Given the description of an element on the screen output the (x, y) to click on. 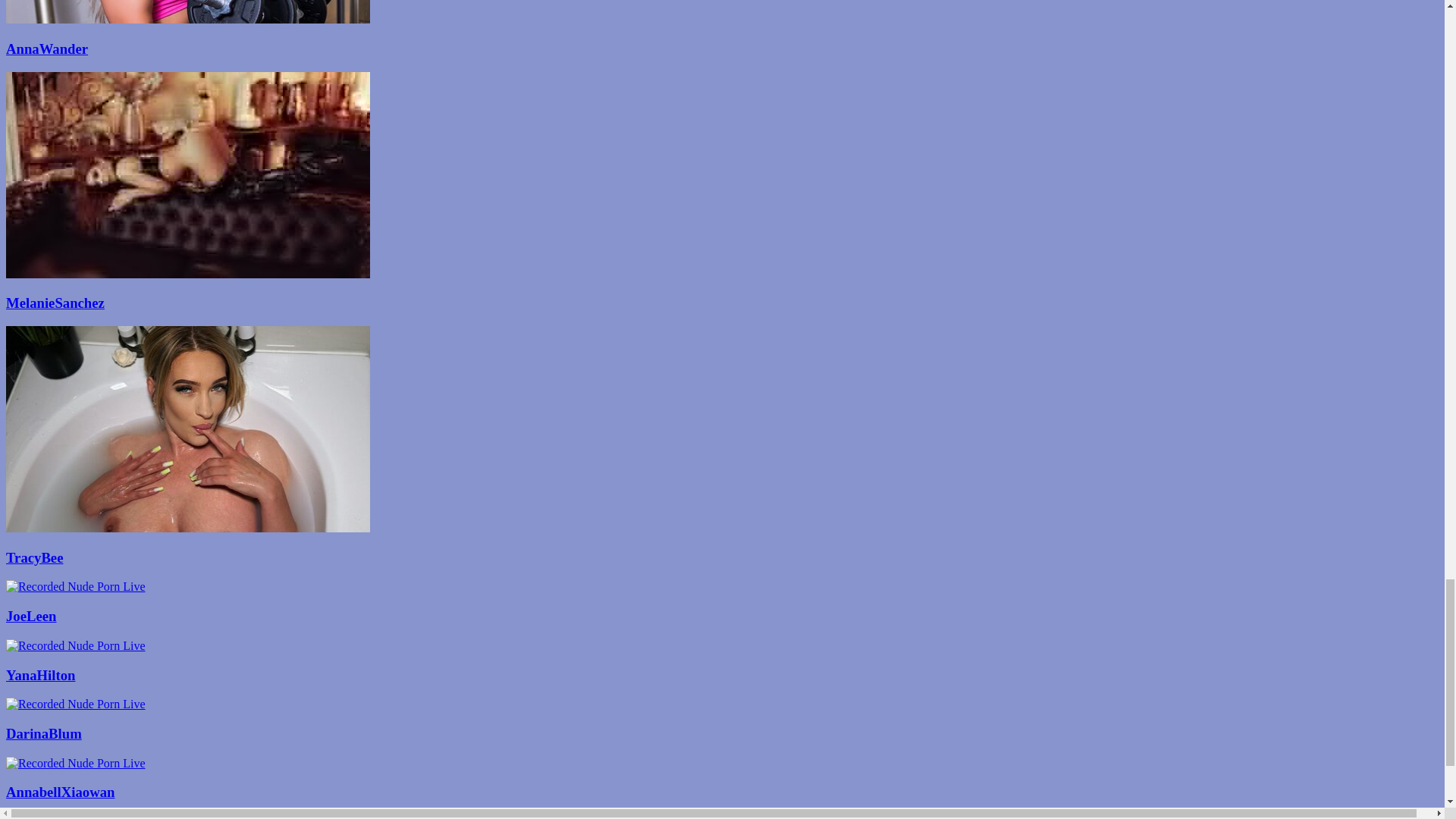
AnnaWander (721, 48)
TracyBee (721, 557)
MelanieSanchez (721, 303)
